Given the description of an element on the screen output the (x, y) to click on. 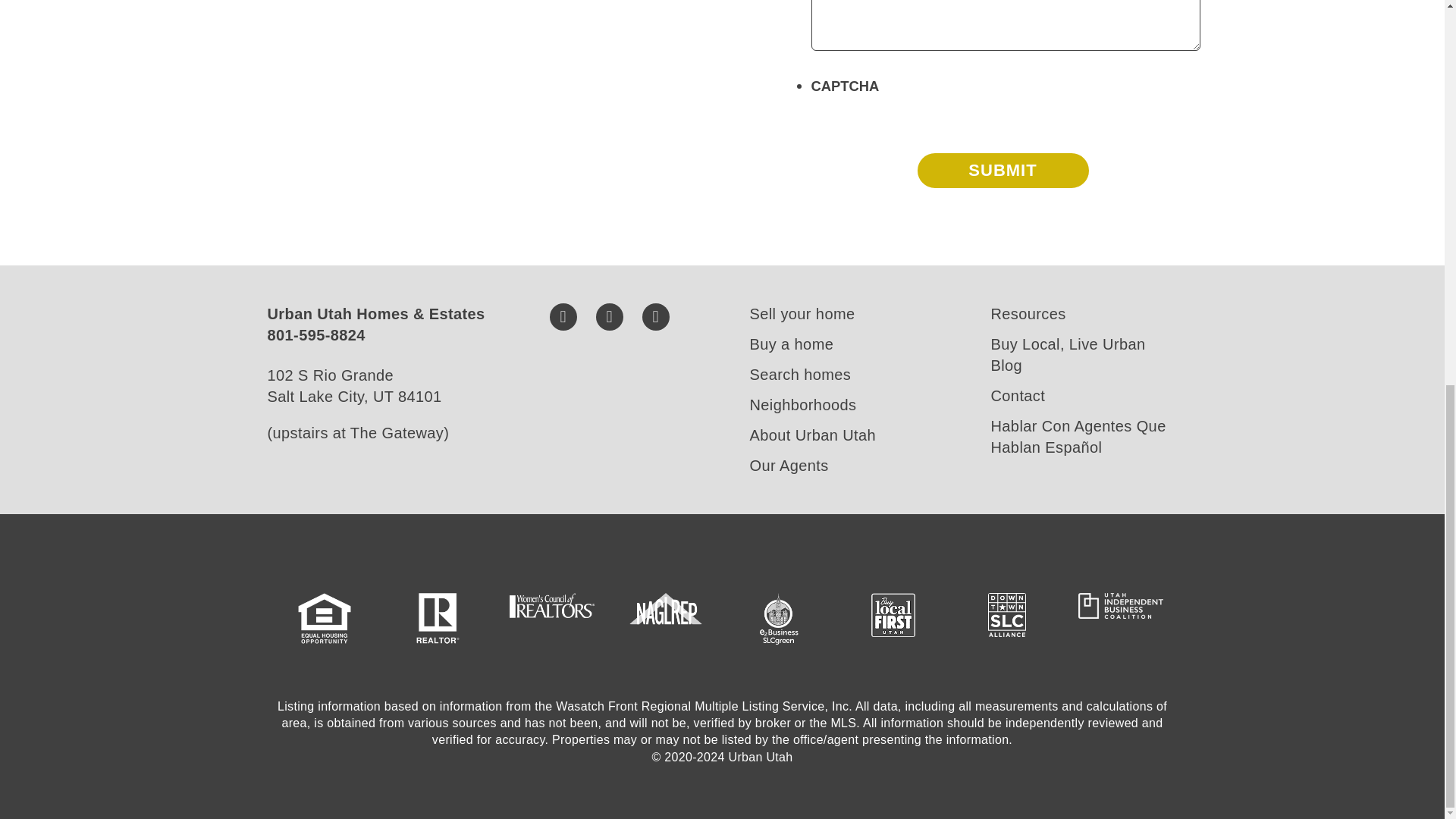
Our Agents (788, 465)
Resources (1027, 313)
Buy Local, Live Urban Blog (1067, 354)
Neighborhoods (802, 404)
Contact (1017, 395)
Search homes (799, 374)
Buy a home (790, 343)
Submit (1002, 170)
Submit (1002, 170)
Sell your home (801, 313)
About Urban Utah (812, 434)
801-595-8824 (315, 334)
